Given the description of an element on the screen output the (x, y) to click on. 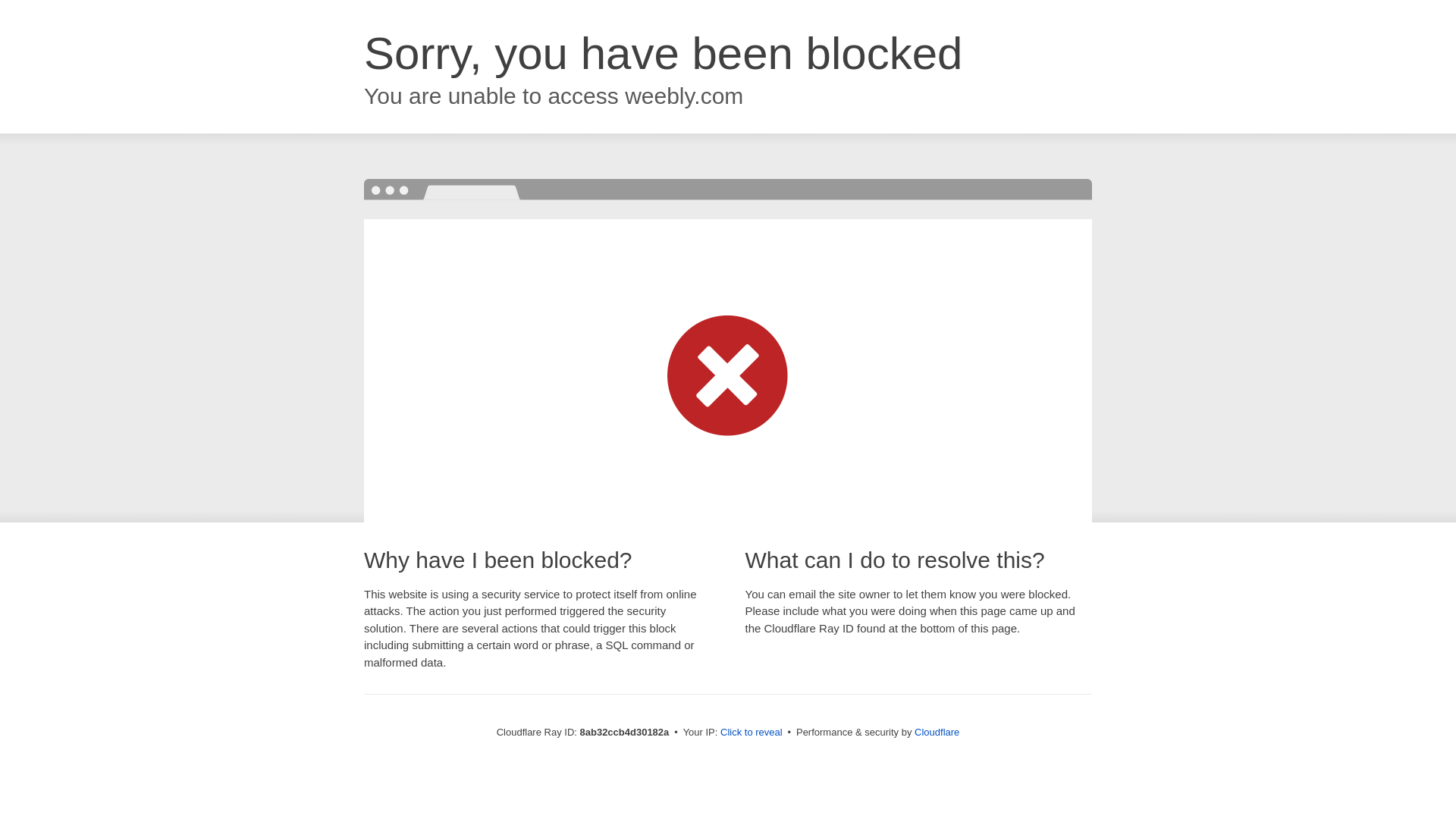
Cloudflare (936, 731)
Click to reveal (751, 732)
